Given the description of an element on the screen output the (x, y) to click on. 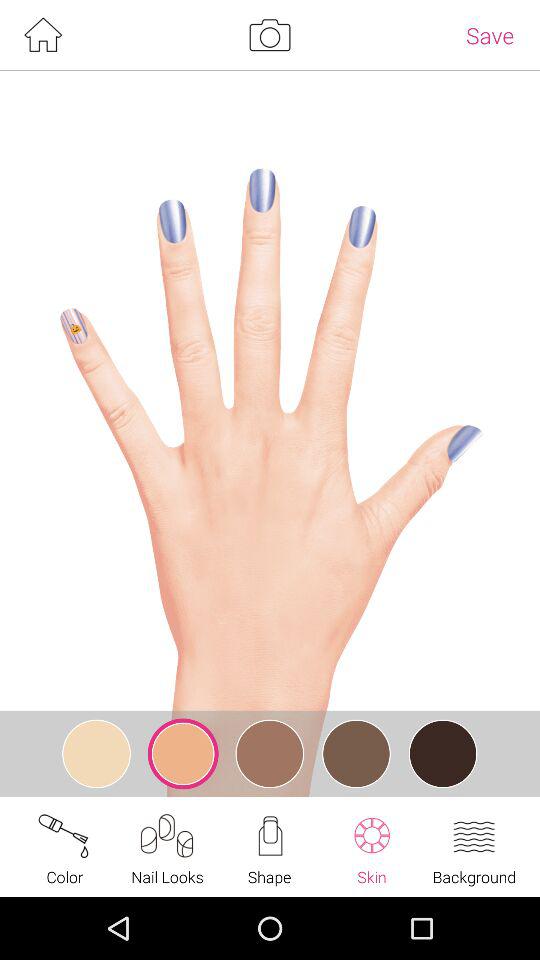
press the save app (490, 35)
